Given the description of an element on the screen output the (x, y) to click on. 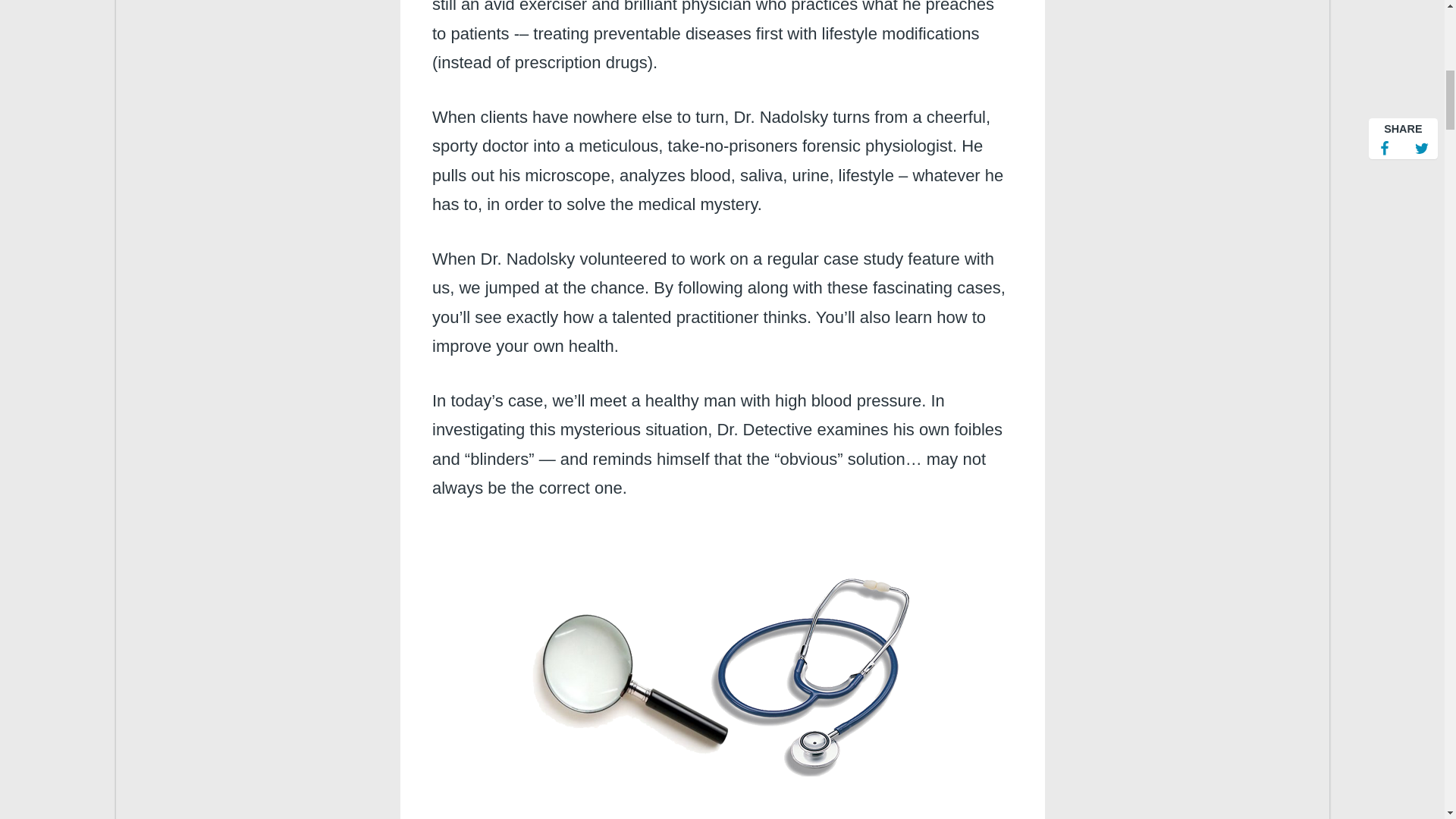
magnifying glass and stethoscope (721, 672)
